Given the description of an element on the screen output the (x, y) to click on. 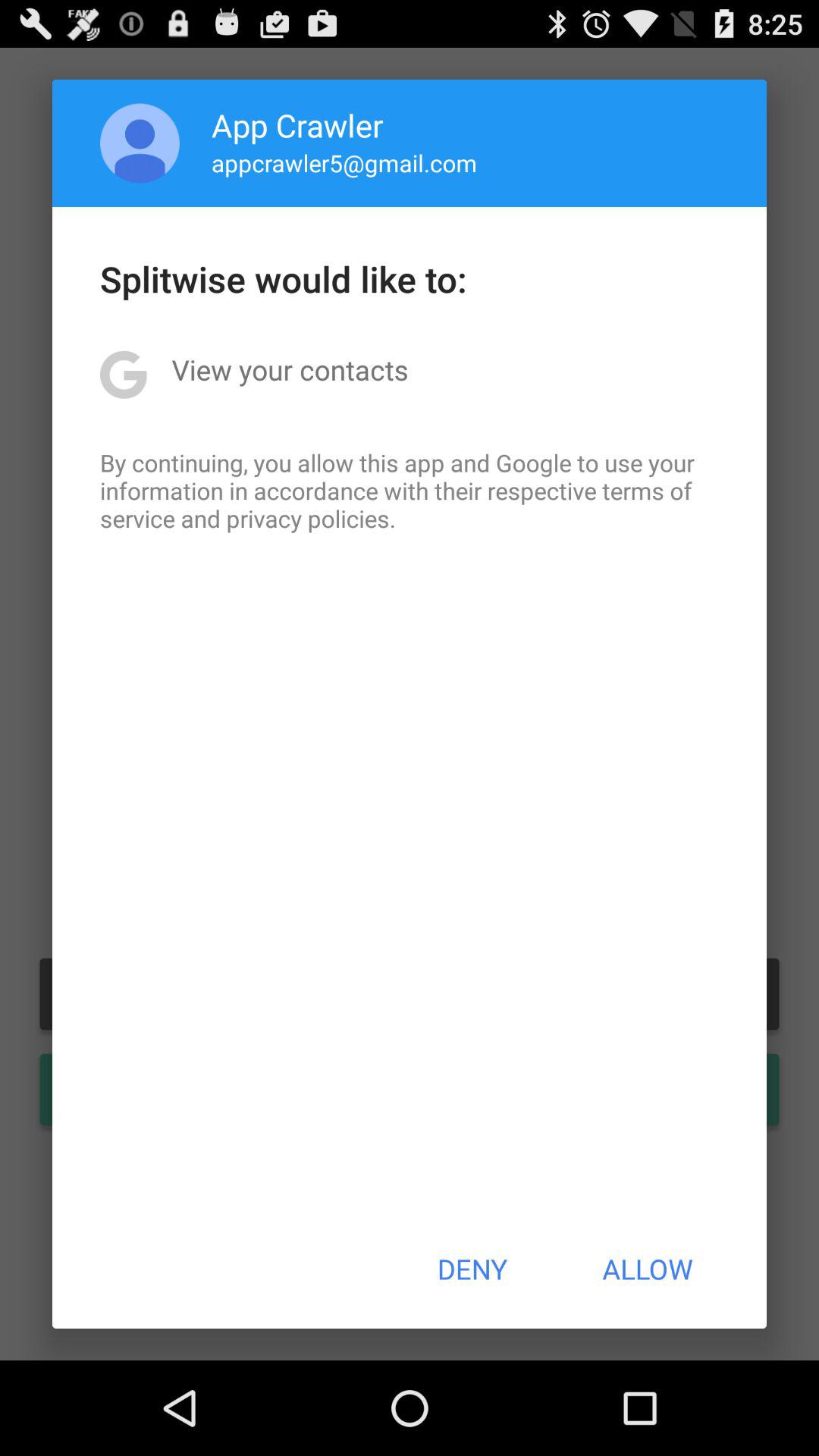
swipe to the appcrawler5@gmail.com (344, 162)
